Given the description of an element on the screen output the (x, y) to click on. 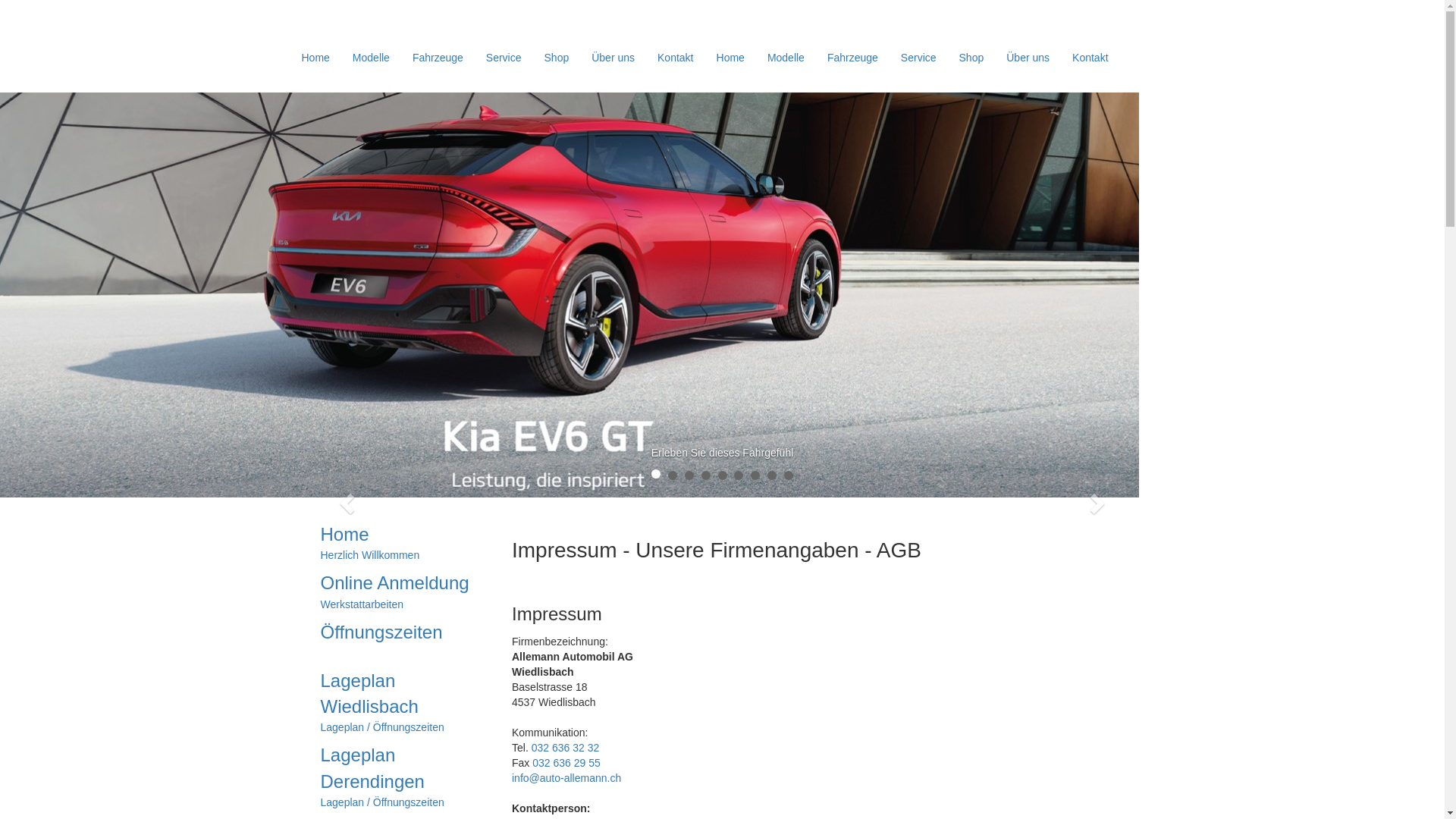
032 636 29 55 Element type: text (566, 762)
Home Element type: text (730, 57)
info@auto-allemann.ch Element type: text (566, 777)
Kontakt Element type: text (675, 57)
Fahrzeuge Element type: text (852, 57)
Fahrzeuge Element type: text (437, 57)
Kontakt Element type: text (1089, 57)
Shop Element type: text (971, 57)
Online Anmeldung
Werkstattarbeiten Element type: text (404, 590)
Service Element type: text (918, 57)
032 636 32 32 Element type: text (565, 747)
Home
Herzlich Willkommen Element type: text (404, 541)
Shop Element type: text (556, 57)
Modelle Element type: text (785, 57)
Service Element type: text (503, 57)
Modelle Element type: text (371, 57)
Home Element type: text (314, 57)
